Given the description of an element on the screen output the (x, y) to click on. 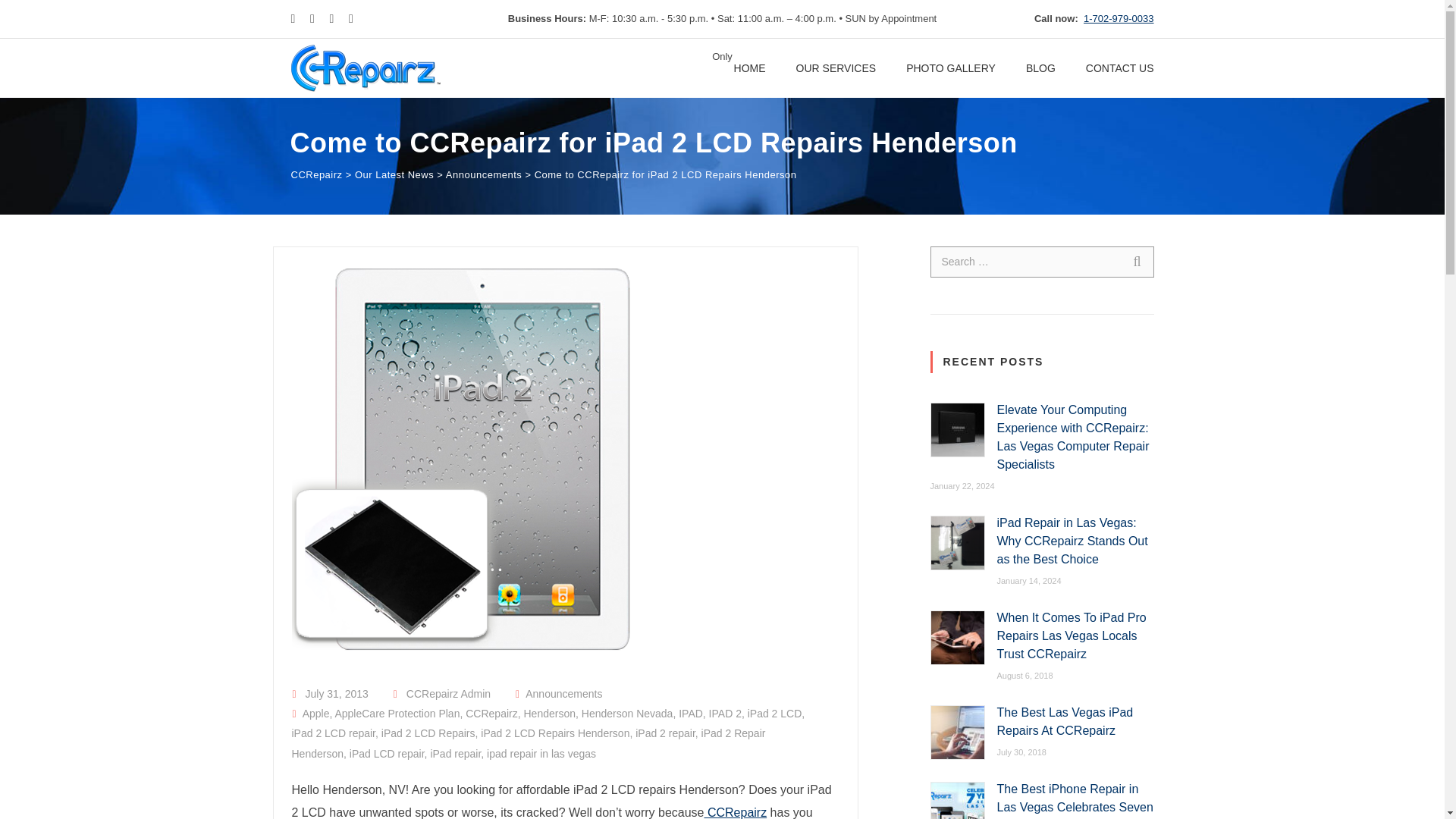
IPAD (690, 713)
CCRepairz (490, 713)
CONTACT US (1120, 67)
Our Latest News (394, 174)
 CCRepairz (735, 812)
CCRepairz on Facebook (735, 812)
PHOTO GALLERY (950, 67)
HOME (749, 67)
Go to Our Latest News. (394, 174)
1-702-979-0033 (1118, 18)
